Given the description of an element on the screen output the (x, y) to click on. 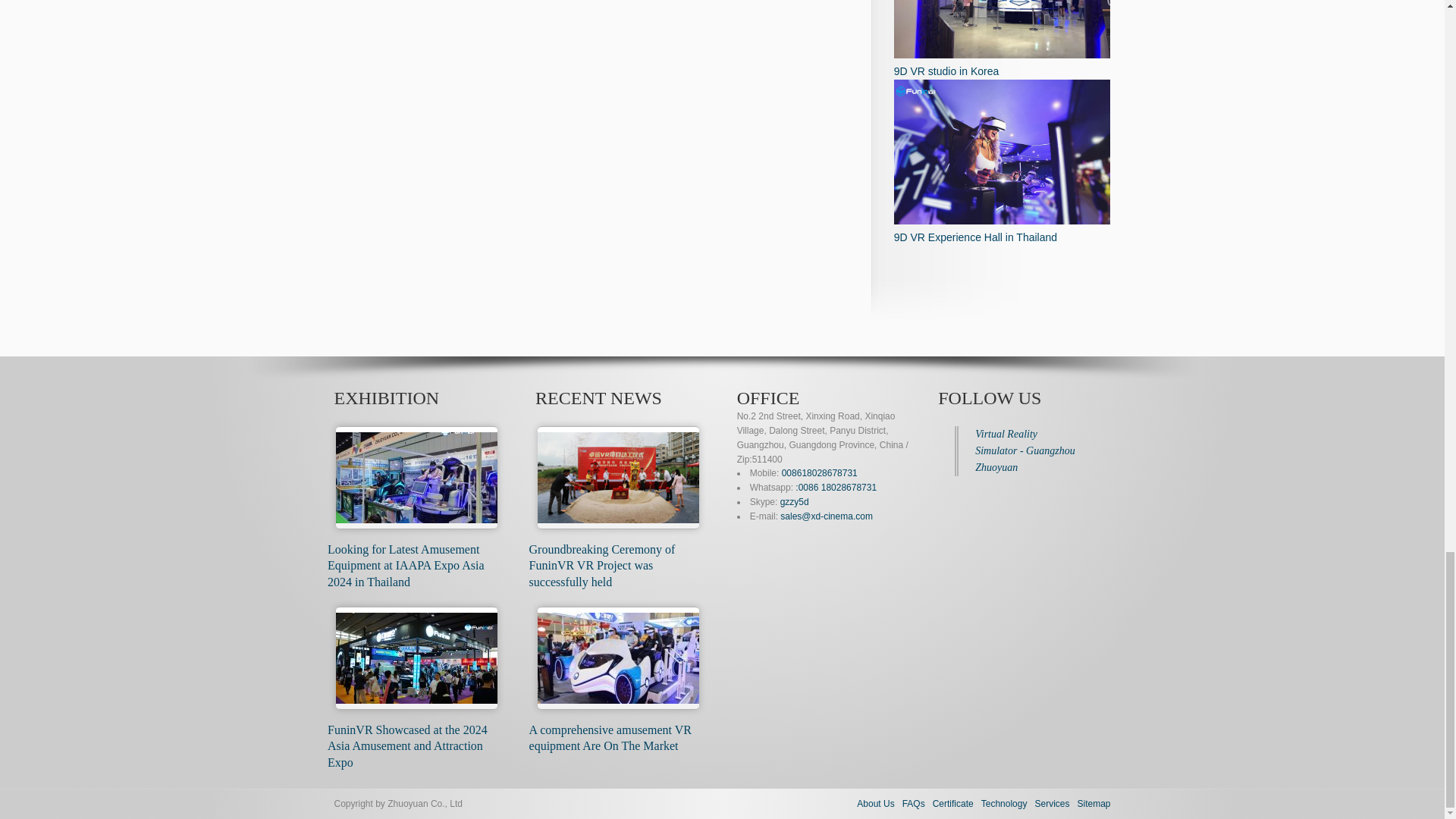
A comprehensive amusement VR equipment Are On The Market (610, 737)
